Given the description of an element on the screen output the (x, y) to click on. 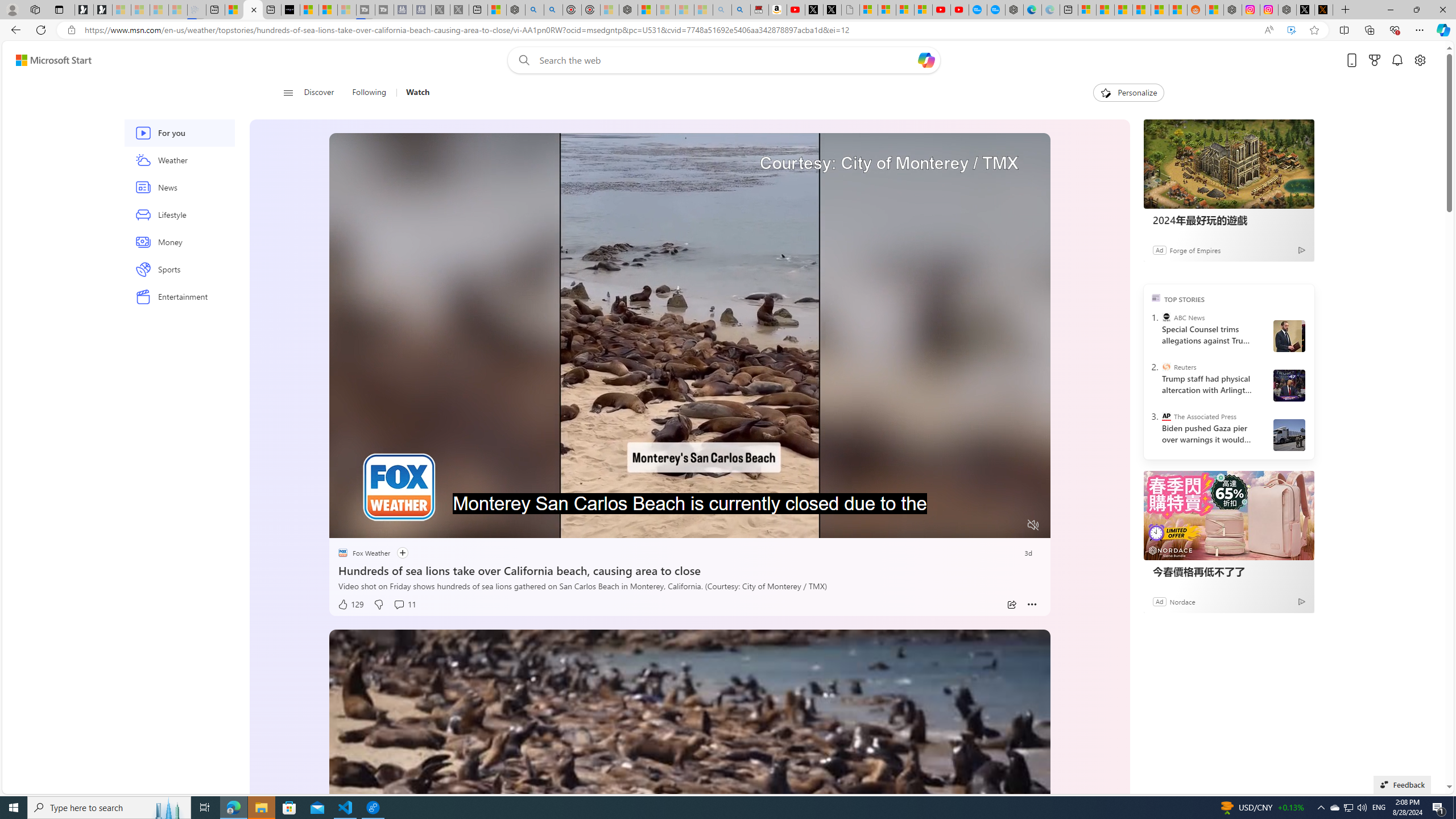
Unmute (1033, 524)
Web search (520, 60)
Skip to footer (46, 59)
Fullscreen (1011, 525)
